Given the description of an element on the screen output the (x, y) to click on. 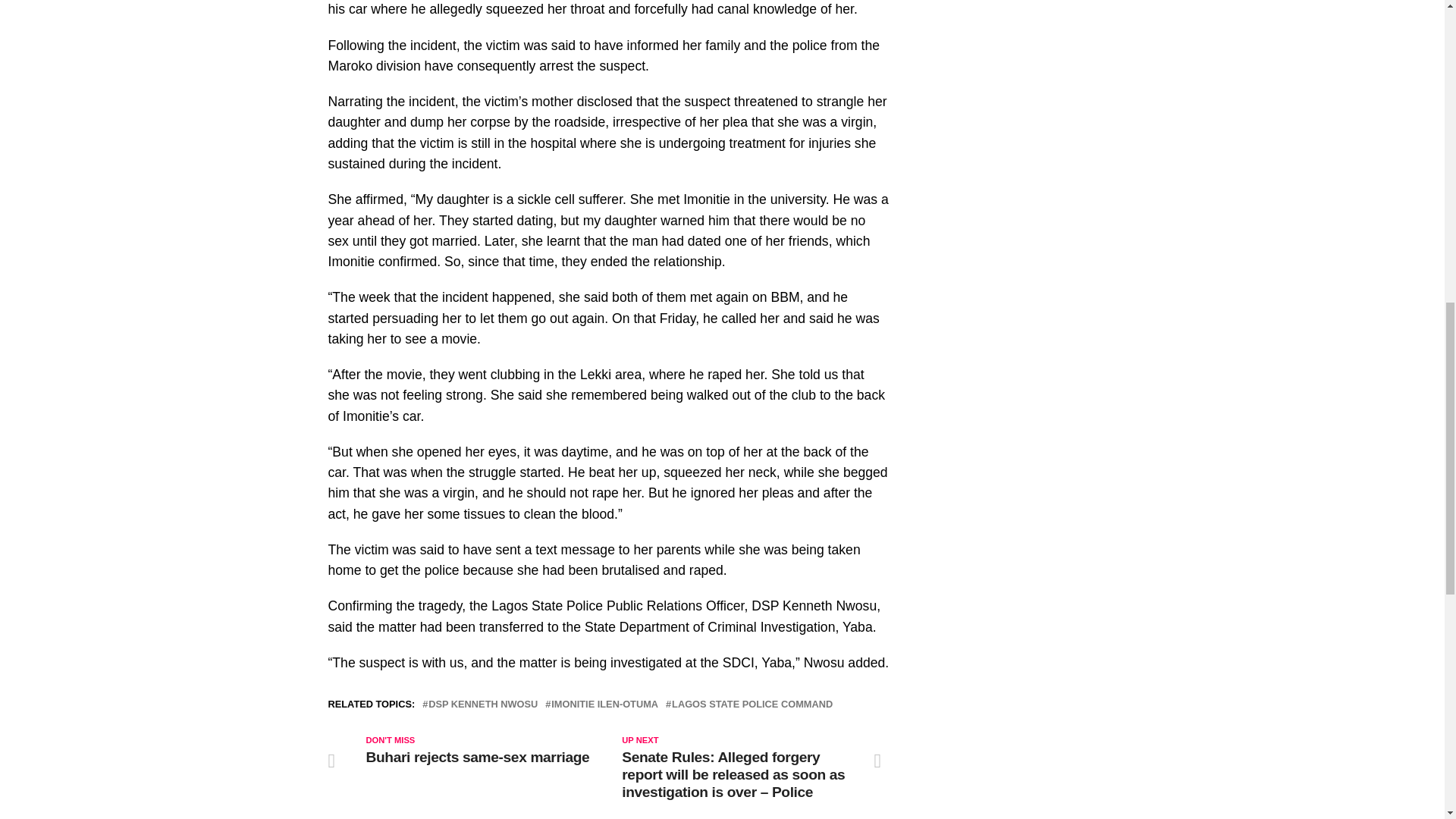
DSP KENNETH NWOSU (482, 705)
LAGOS STATE POLICE COMMAND (751, 705)
IMONITIE ILEN-OTUMA (604, 705)
